Given the description of an element on the screen output the (x, y) to click on. 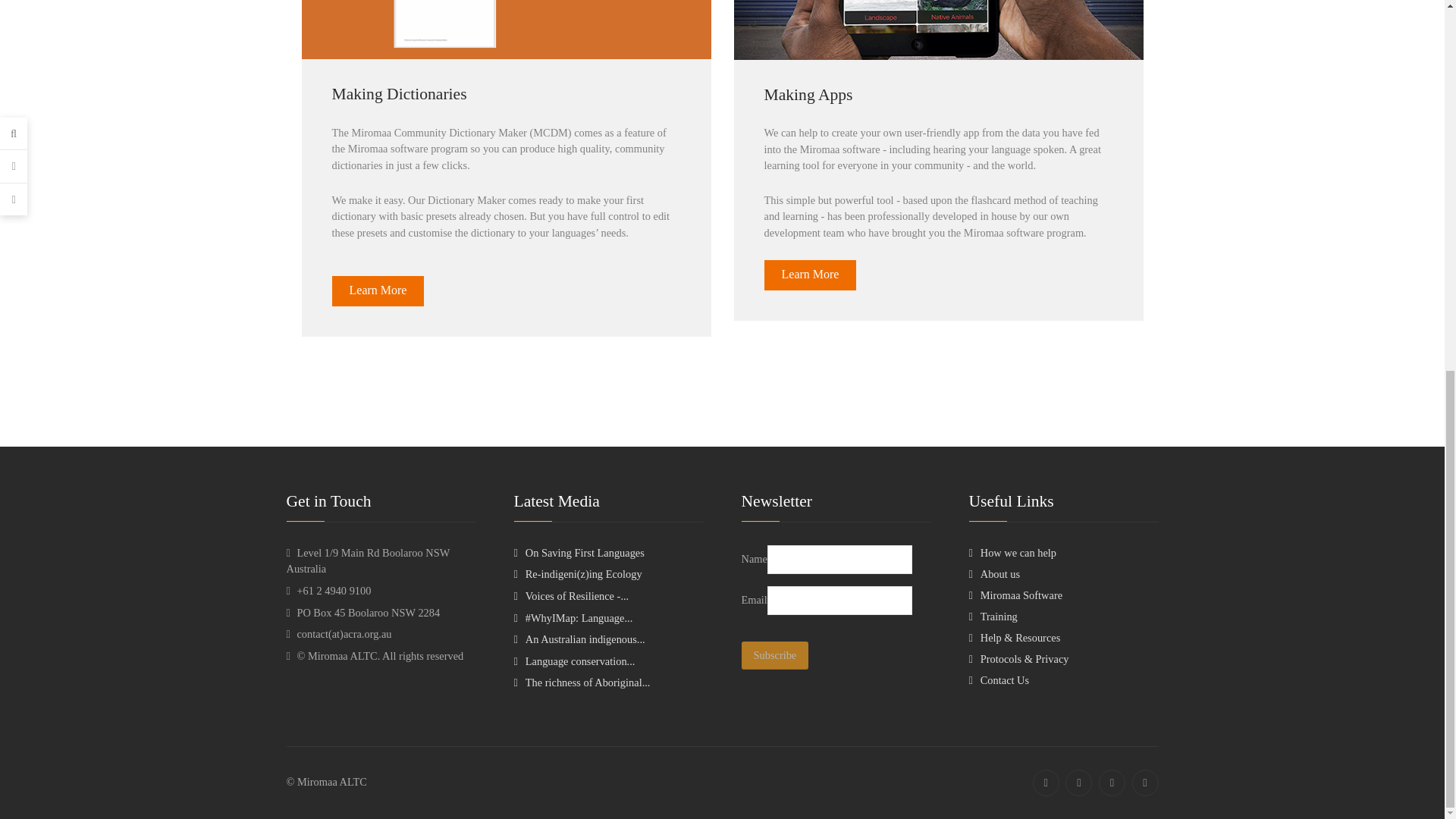
YouTube (1144, 109)
Vimeo (1112, 109)
Twitter (1078, 109)
Facebook (1045, 109)
